Given the description of an element on the screen output the (x, y) to click on. 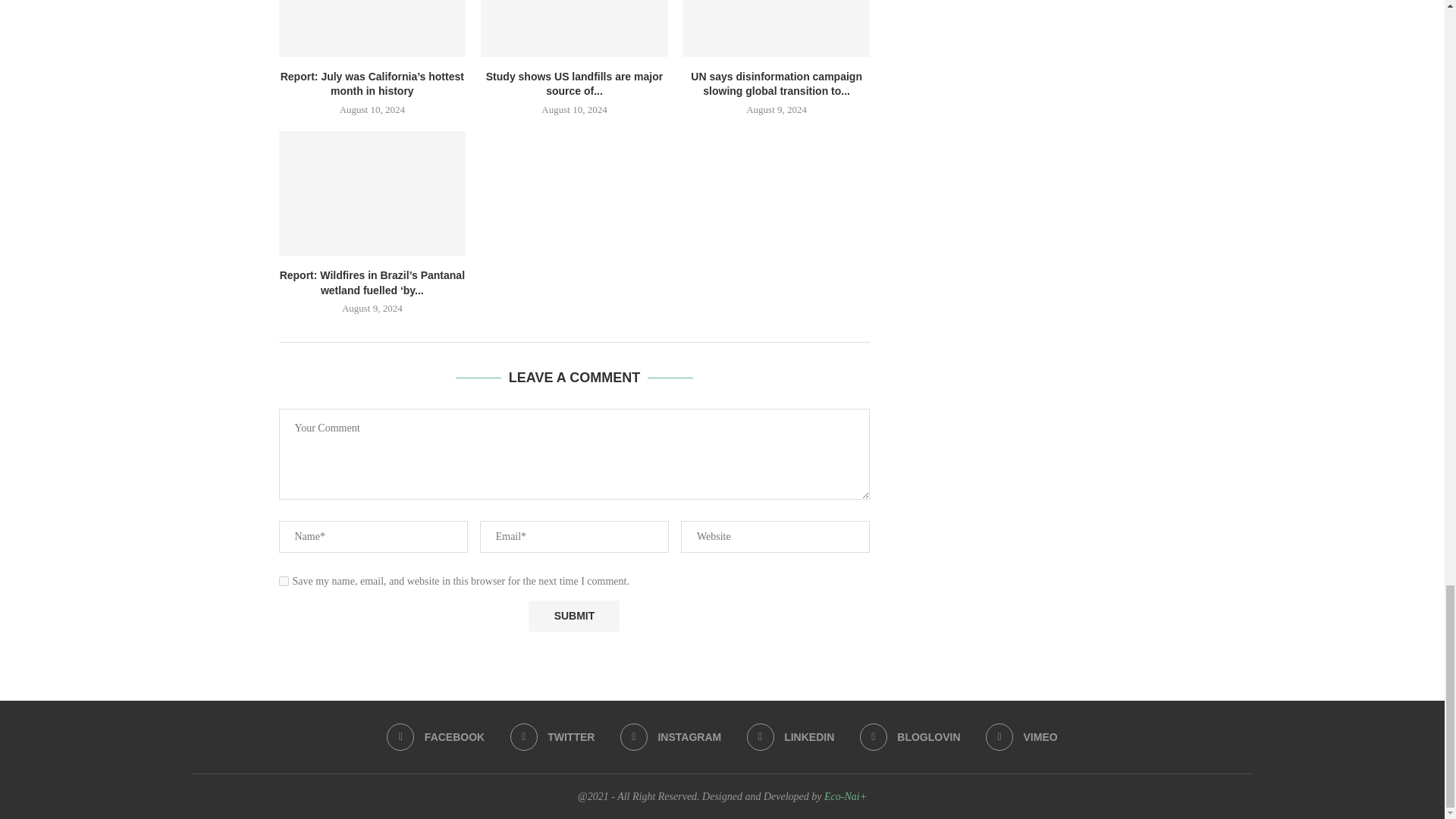
Submit (574, 615)
yes (283, 581)
